Given the description of an element on the screen output the (x, y) to click on. 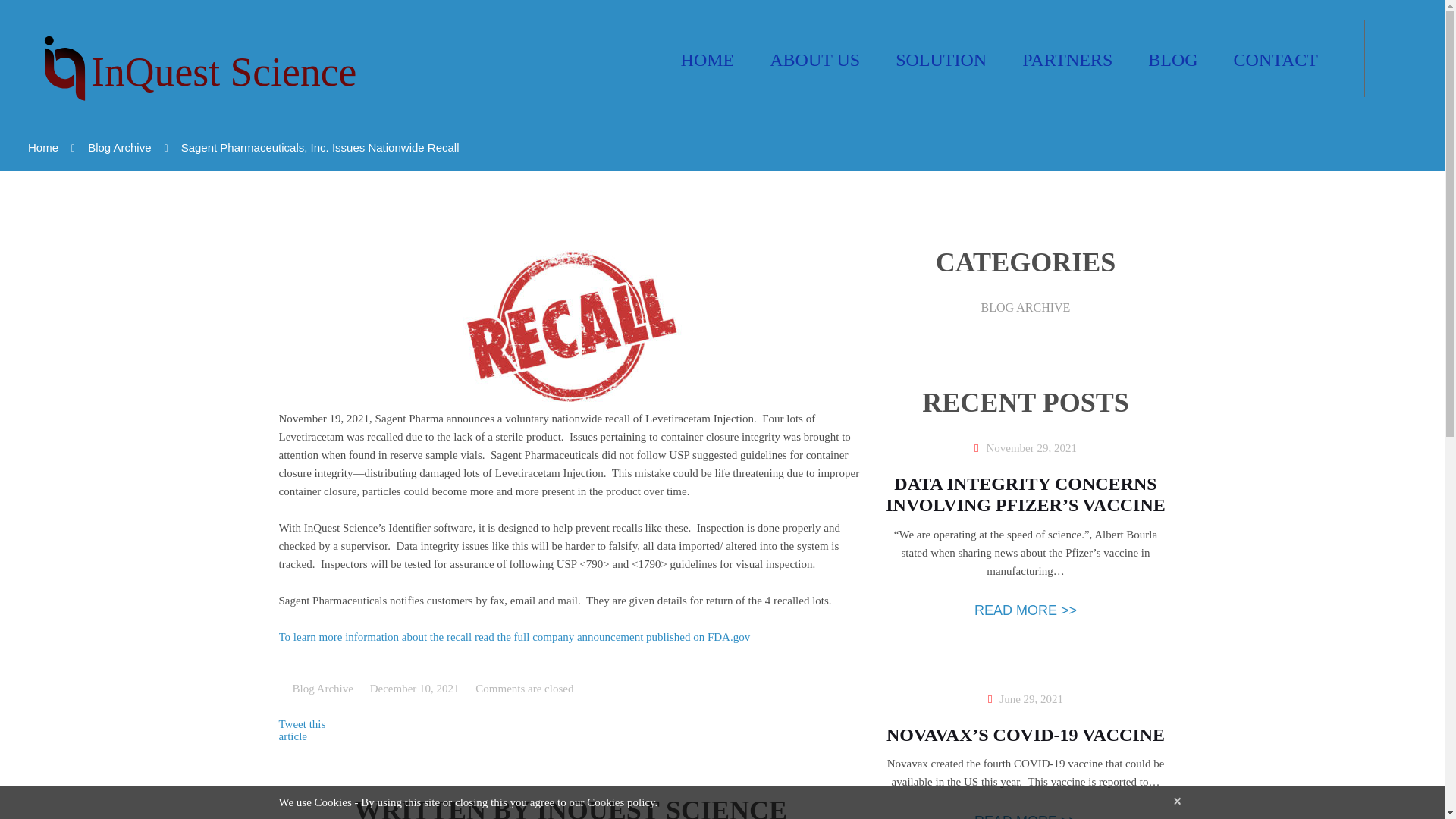
PARTNERS (1067, 59)
ABOUT US (815, 59)
SOLUTION (941, 59)
BLOG (1172, 59)
Tweet this article (302, 729)
Blog Archive (322, 688)
HOME (708, 59)
BLOG ARCHIVE (1025, 306)
Home (42, 146)
Posts by Inquest Science (662, 806)
CONTACT (1275, 59)
Blog Archive (119, 146)
INQUEST SCIENCE (662, 806)
